Given the description of an element on the screen output the (x, y) to click on. 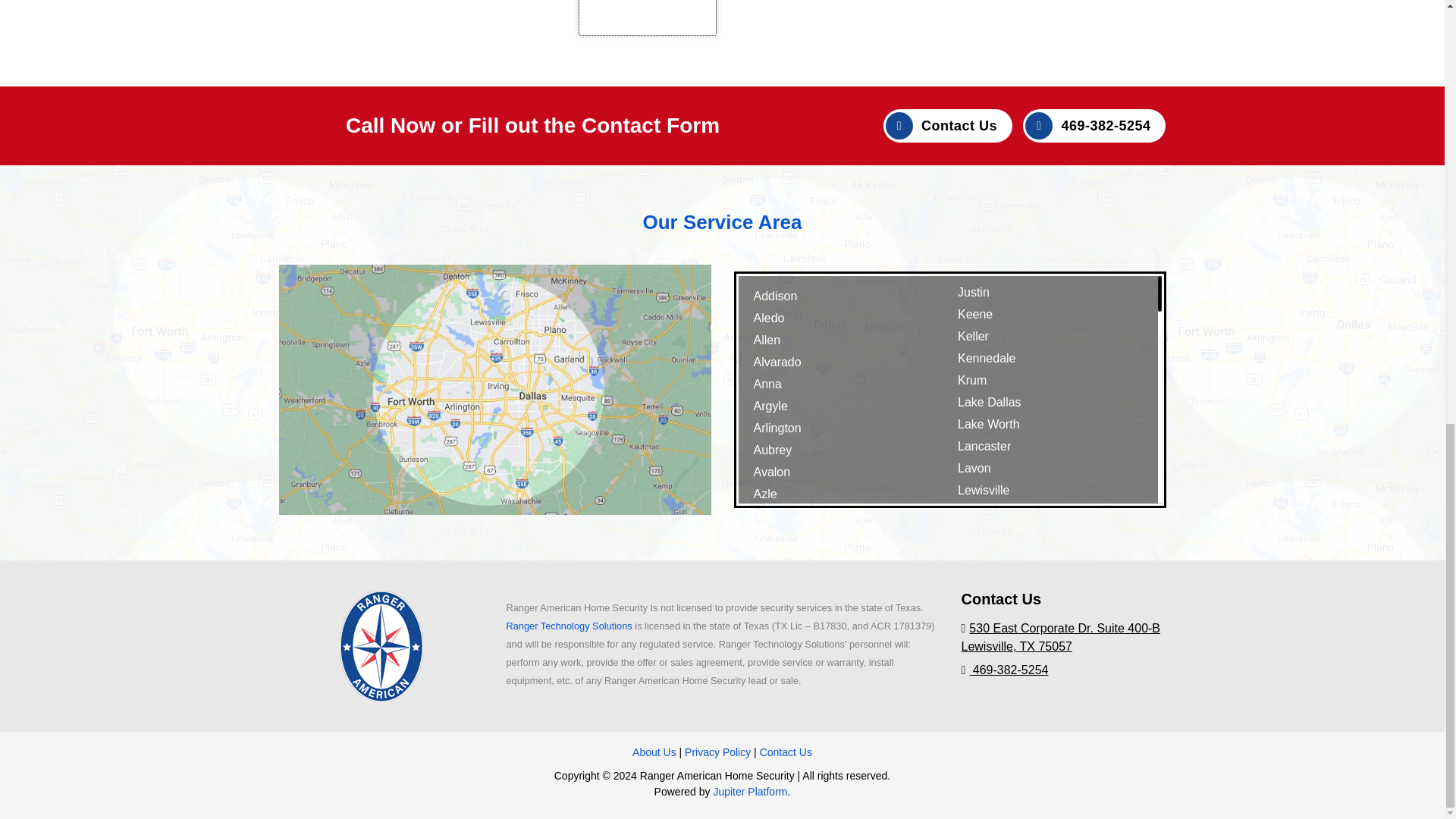
Call Us Now (1063, 670)
